Given the description of an element on the screen output the (x, y) to click on. 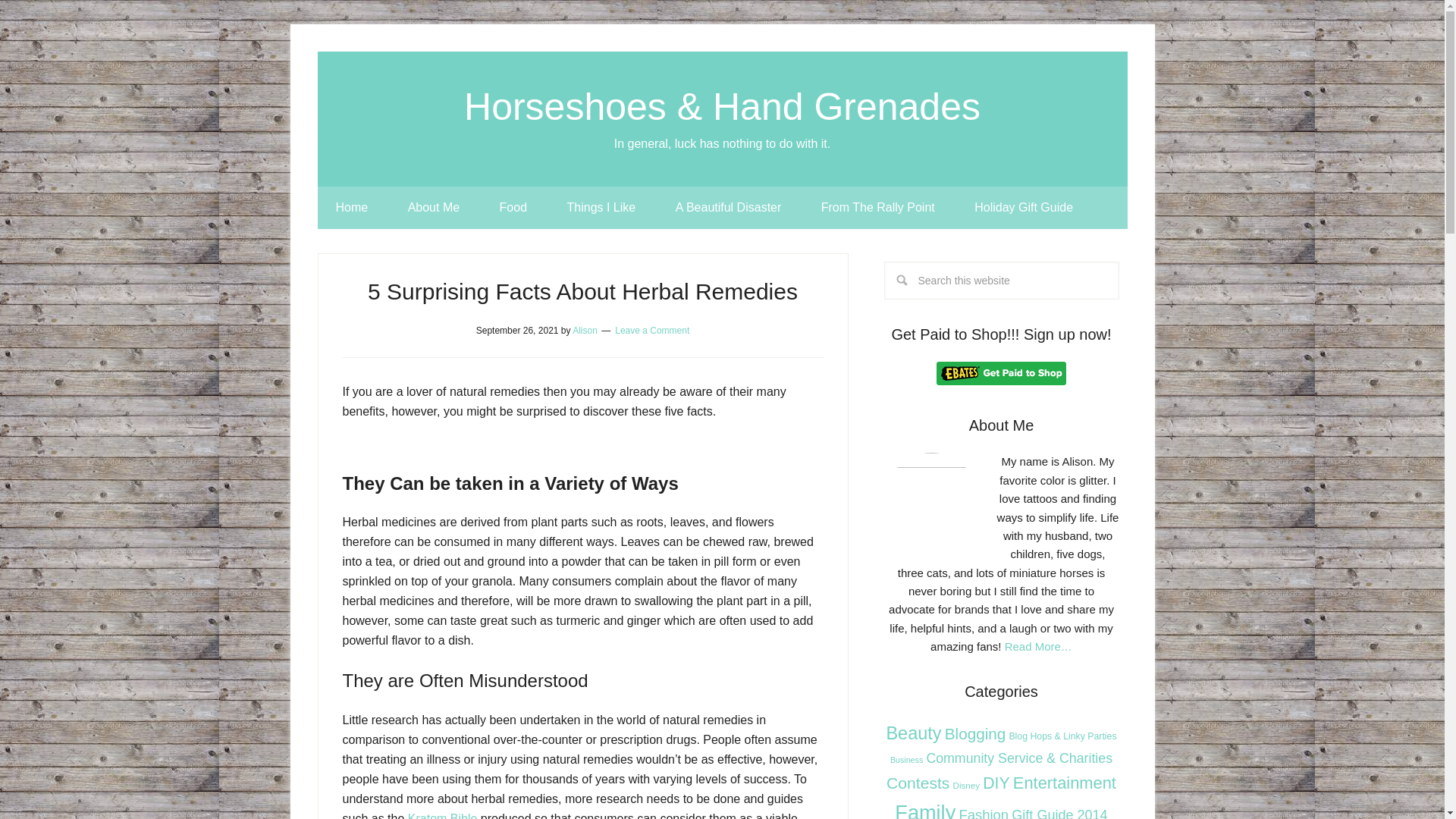
Beauty (912, 732)
DIY (996, 782)
Things I Like (600, 207)
Alison (584, 330)
Family (925, 809)
About Me (433, 207)
Gift Guide 2014 (1058, 813)
Kratom Bible (442, 815)
